Given the description of an element on the screen output the (x, y) to click on. 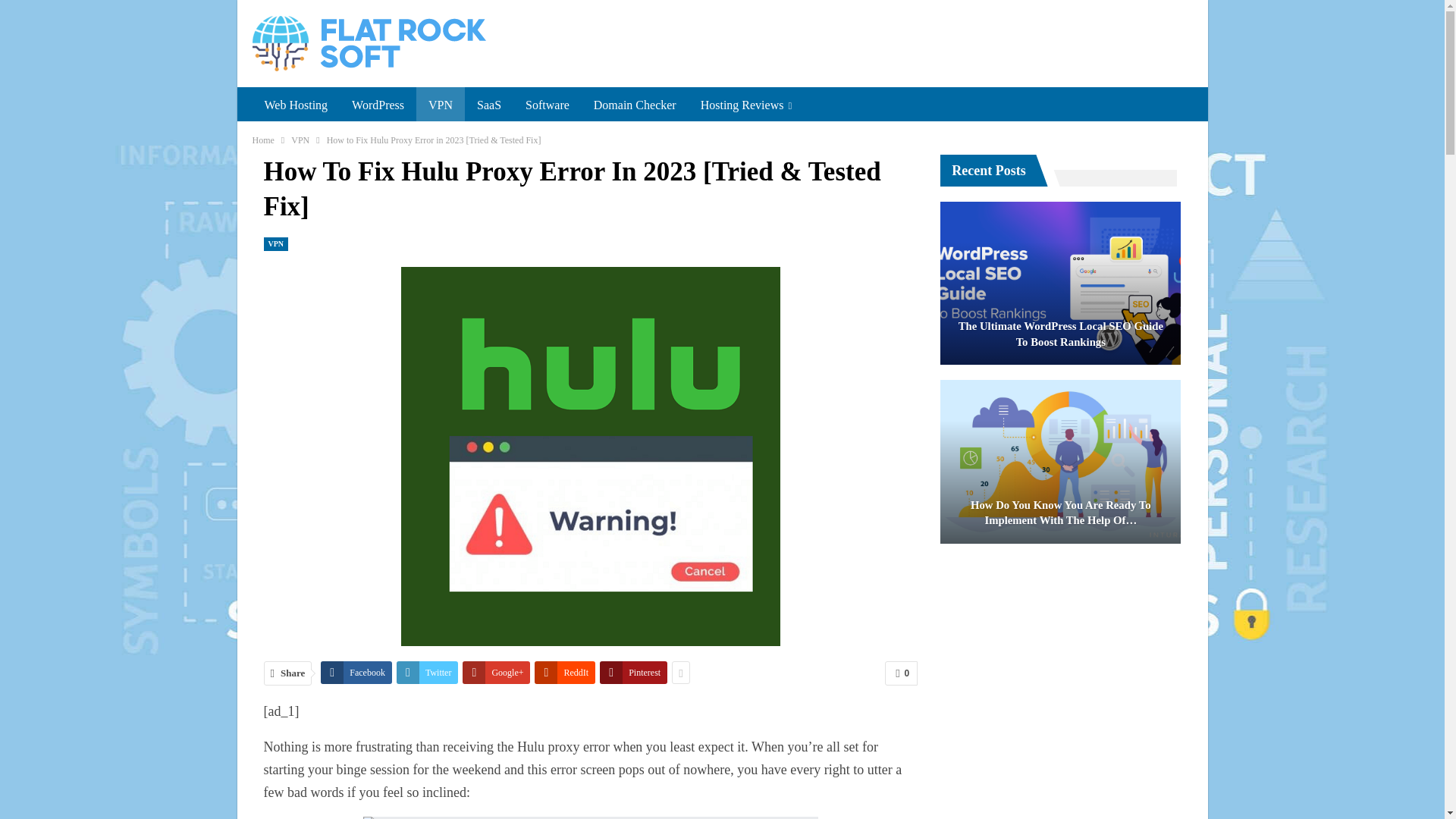
Twitter (427, 671)
Hosting Reviews (746, 104)
Home (262, 139)
Facebook (355, 671)
VPN (440, 104)
SaaS (488, 104)
ReddIt (564, 671)
The Ultimate WordPress Local SEO Guide to Boost Rankings (1060, 283)
VPN (299, 139)
Pinterest (632, 671)
